Given the description of an element on the screen output the (x, y) to click on. 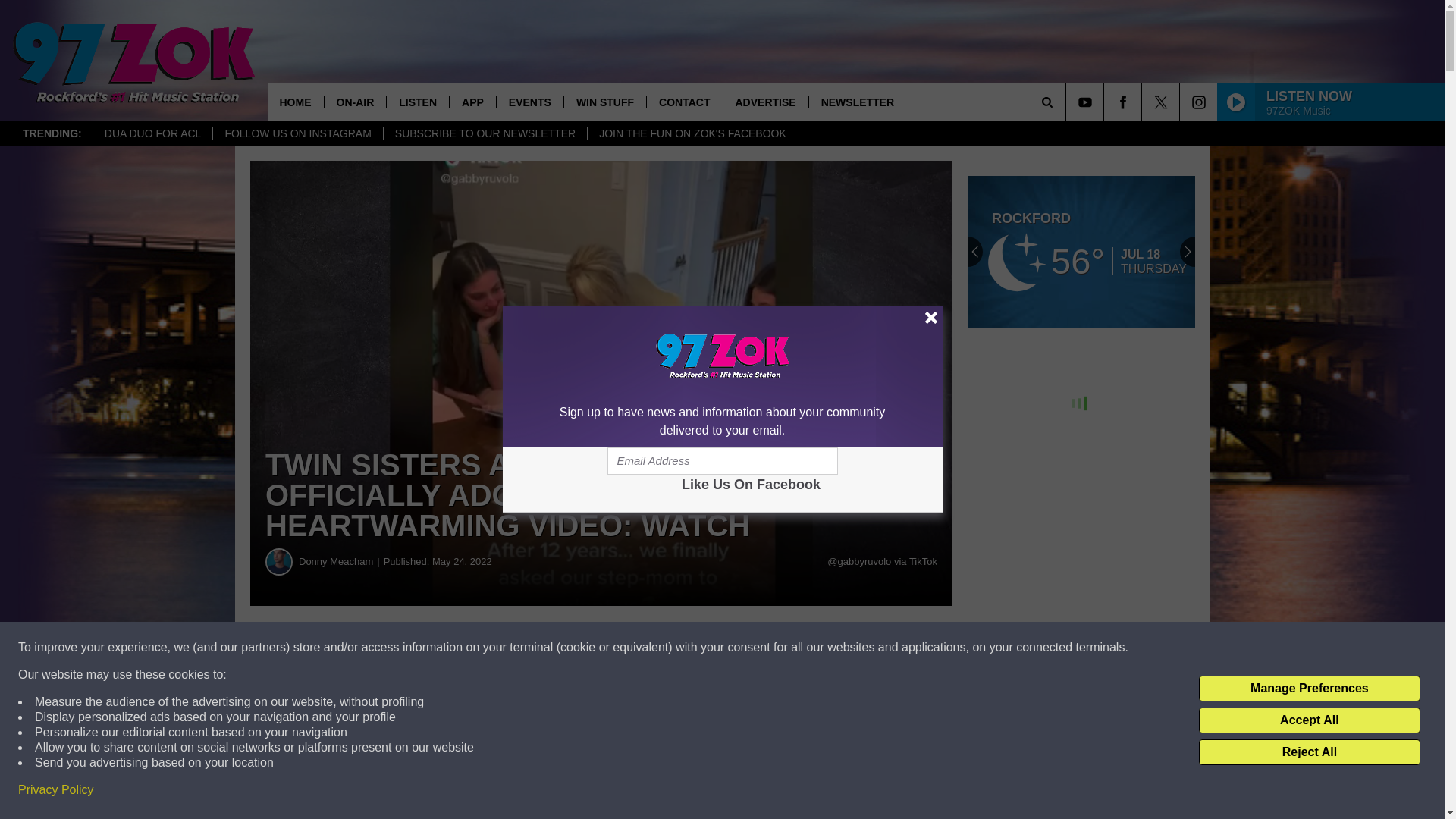
DUA DUO FOR ACL (152, 133)
Accept All (1309, 720)
Email Address (722, 461)
APP (472, 102)
ADVERTISE (765, 102)
LISTEN (416, 102)
FOLLOW US ON INSTAGRAM (296, 133)
WIN STUFF (604, 102)
Reject All (1309, 751)
JOIN THE FUN ON ZOK'S FACEBOOK (691, 133)
SUBSCRIBE TO OUR NEWSLETTER (484, 133)
HOME (294, 102)
Privacy Policy (55, 789)
TRENDING: (52, 133)
ON-AIR (354, 102)
